Given the description of an element on the screen output the (x, y) to click on. 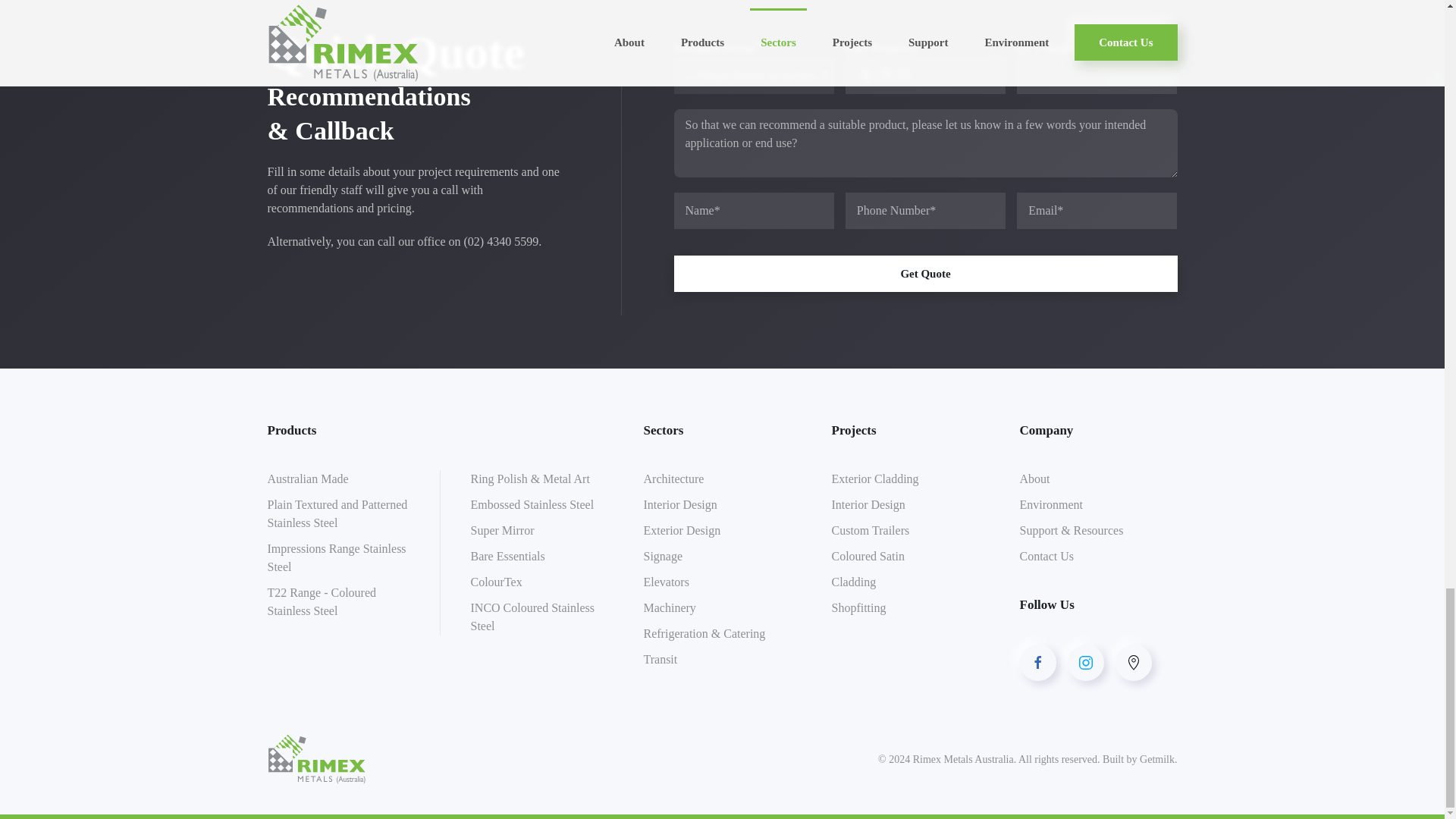
Get Quote (924, 273)
